Given the description of an element on the screen output the (x, y) to click on. 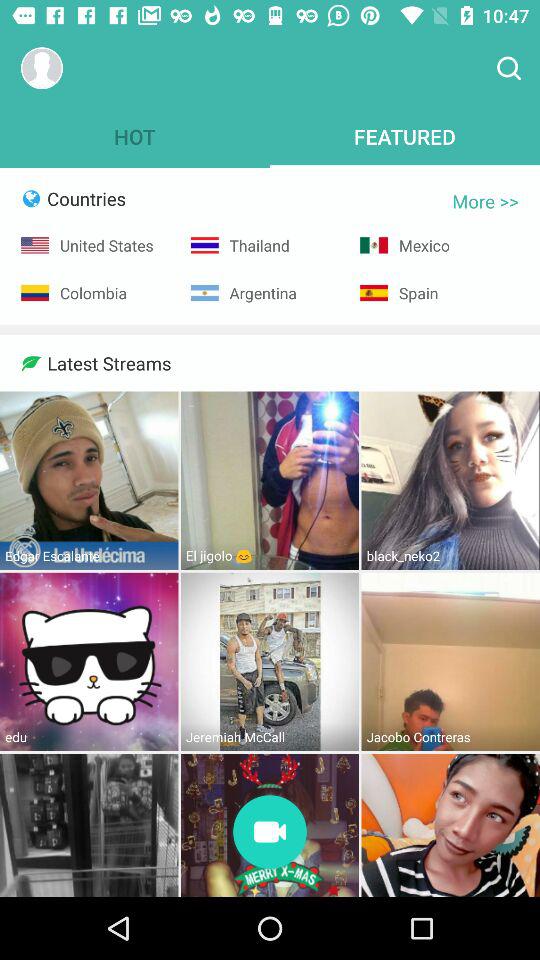
click item below featured icon (485, 201)
